Given the description of an element on the screen output the (x, y) to click on. 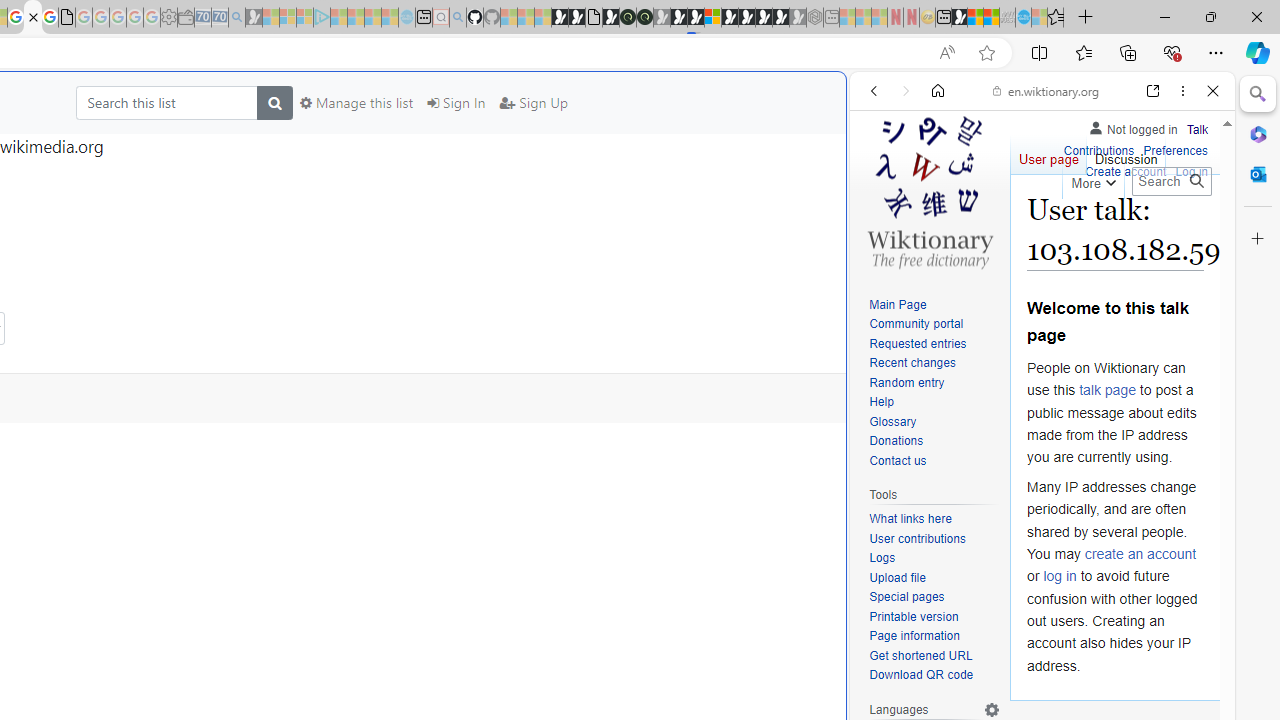
Requested entries (917, 343)
talk page (1107, 390)
Requested entries (934, 344)
Recent changes (934, 363)
User contributions (934, 539)
Download QR code (921, 675)
Page information (934, 637)
Glossary (892, 421)
